Given the description of an element on the screen output the (x, y) to click on. 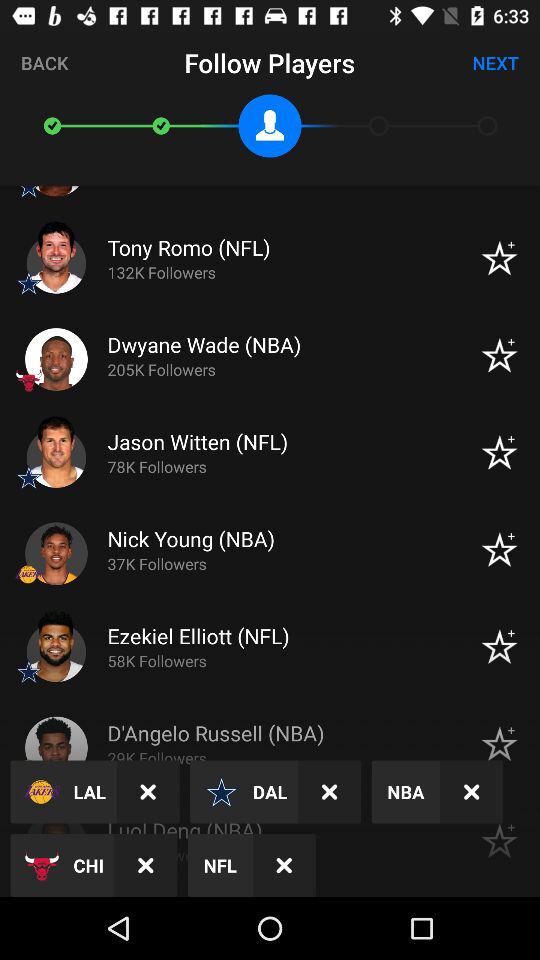
press icon to the left of the nba icon (329, 791)
